Given the description of an element on the screen output the (x, y) to click on. 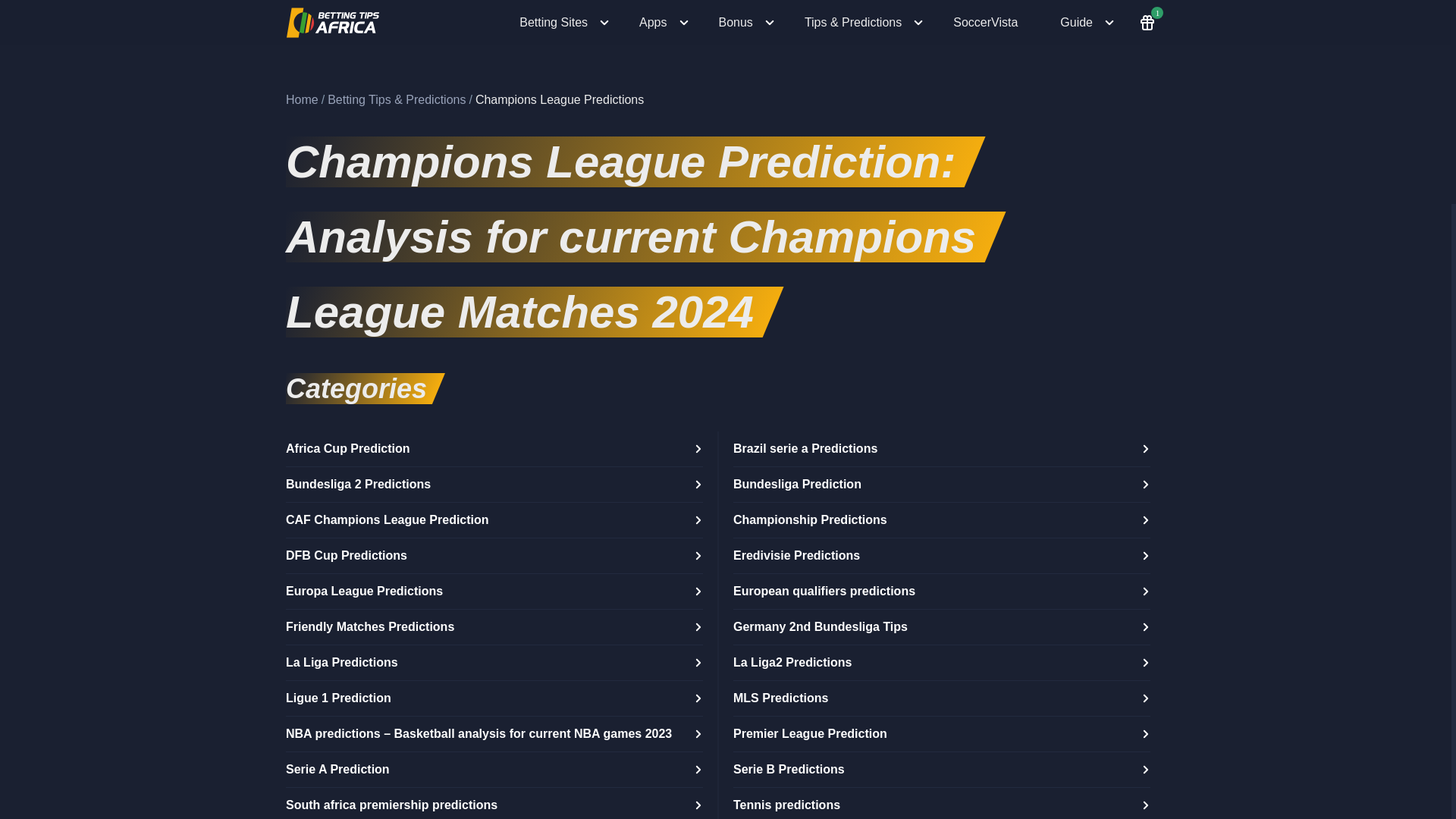
South africa premiership predictions (494, 803)
Champions League Predictions (558, 99)
arrow right (1146, 518)
Bundesliga 2 Predictions (494, 484)
Apps (663, 22)
Tennis predictions (941, 803)
Championship Predictions (941, 520)
European qualifiers predictions (941, 591)
Germany 2nd Bundesliga Tips (941, 627)
Brazil serie a Predictions (941, 448)
arrow right (1146, 447)
Bonus (746, 22)
Home (301, 99)
Africa Cup Prediction (494, 448)
arrow right (1146, 661)
